Given the description of an element on the screen output the (x, y) to click on. 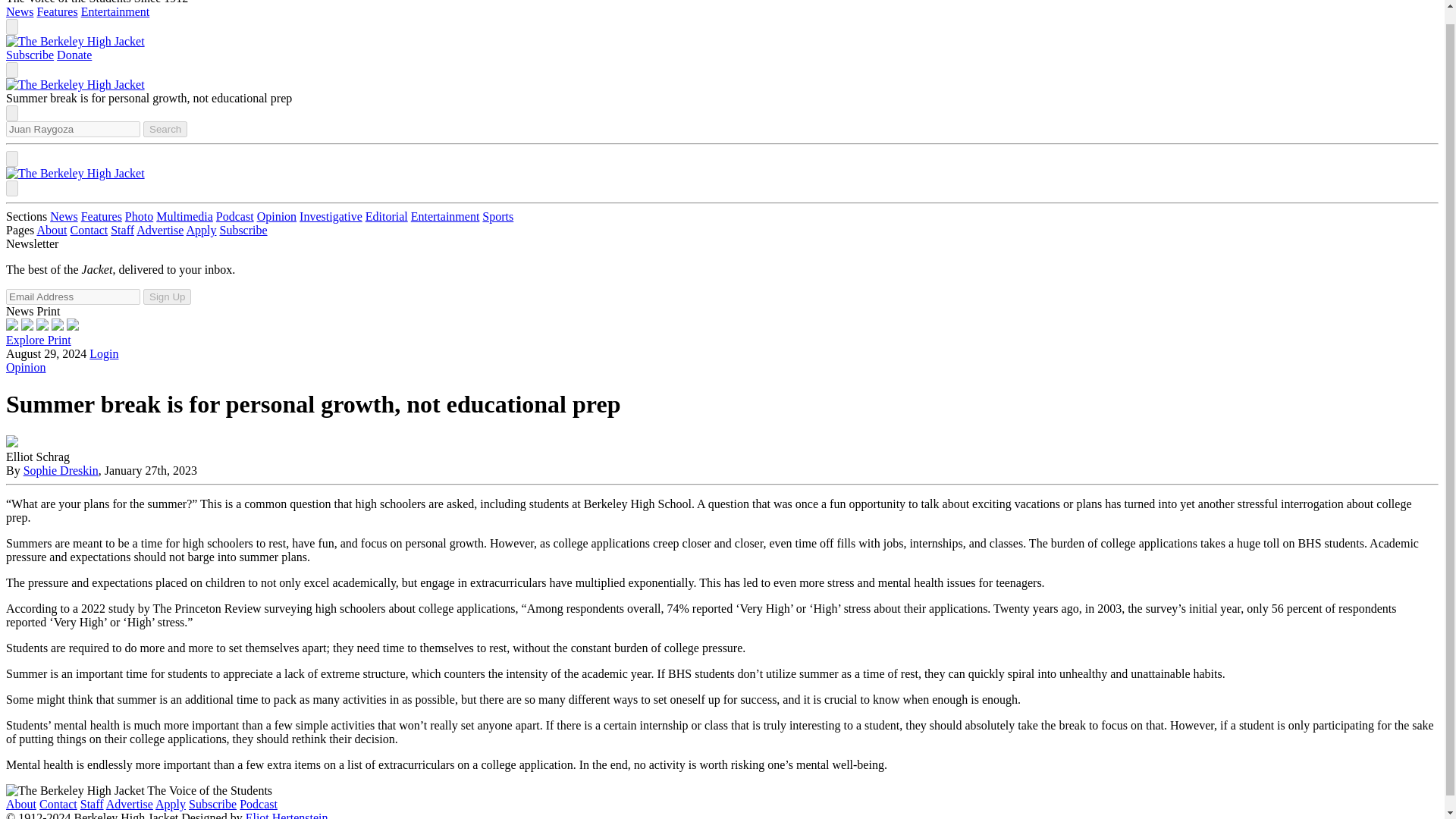
Search (164, 129)
Photo (138, 215)
Opinion (25, 367)
News (63, 215)
Contact (88, 229)
Features (56, 11)
Sign Up (166, 296)
Entertainment (445, 215)
Sports (497, 215)
About (51, 229)
